Given the description of an element on the screen output the (x, y) to click on. 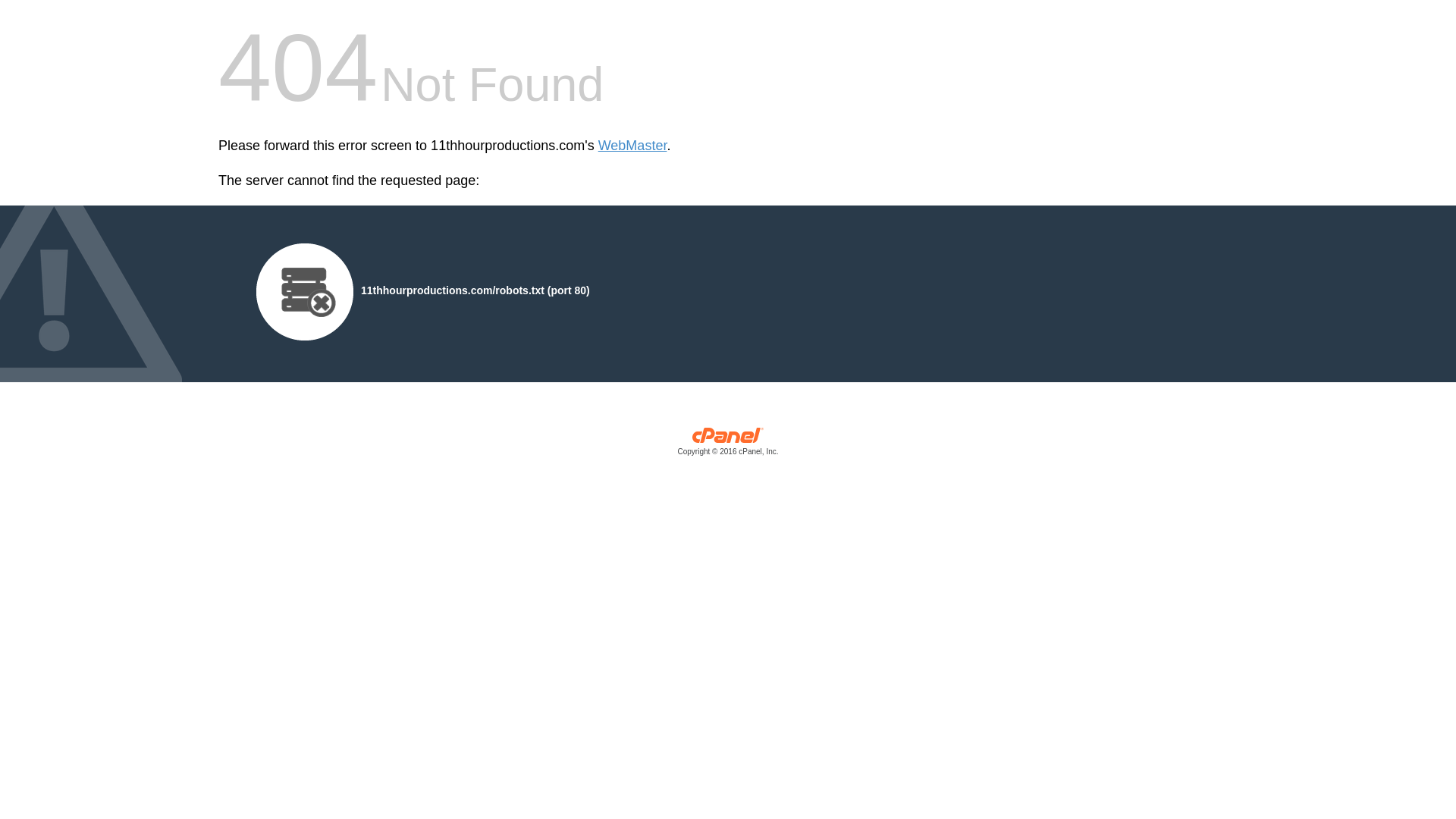
WebMaster Element type: text (632, 145)
